Given the description of an element on the screen output the (x, y) to click on. 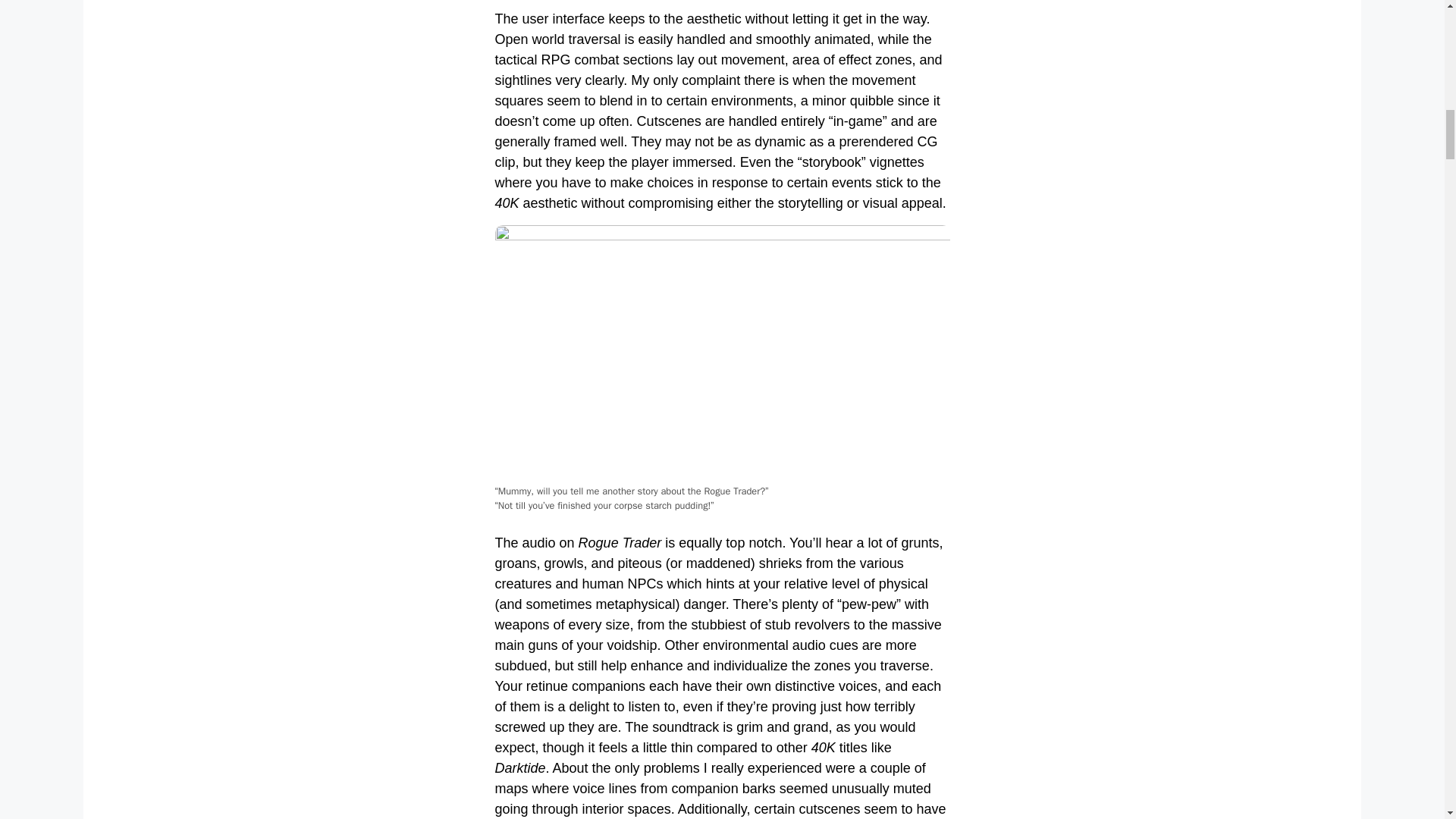
RogueTrader06 (722, 353)
